Given the description of an element on the screen output the (x, y) to click on. 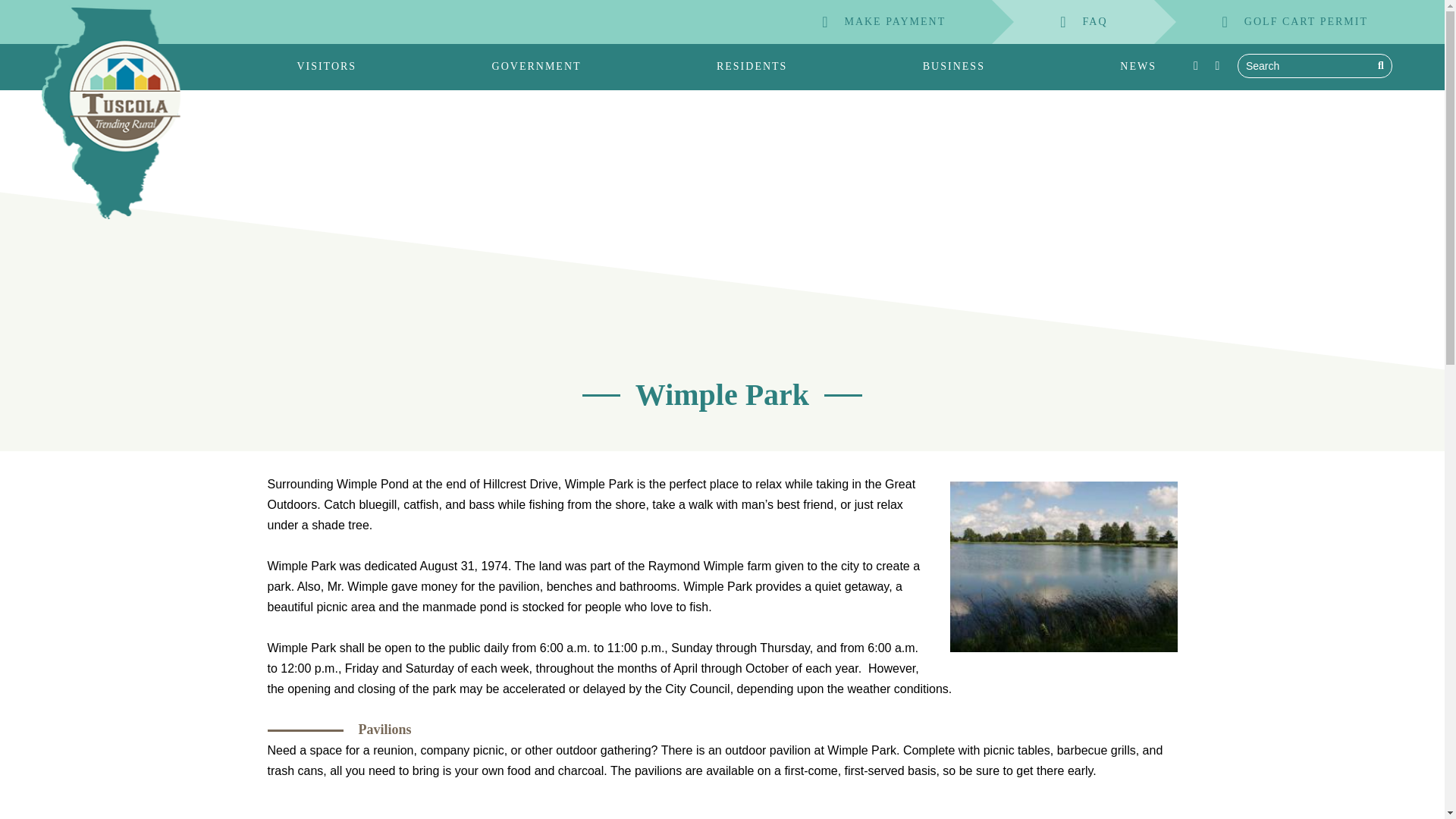
GOVERNMENT (536, 66)
MAKE PAYMENT (872, 22)
Facebook (1195, 65)
Twitter (1216, 65)
RESIDENTS (751, 66)
FAQ (1072, 22)
GOLF CART PERMIT (1283, 22)
VISITORS (326, 66)
